Given the description of an element on the screen output the (x, y) to click on. 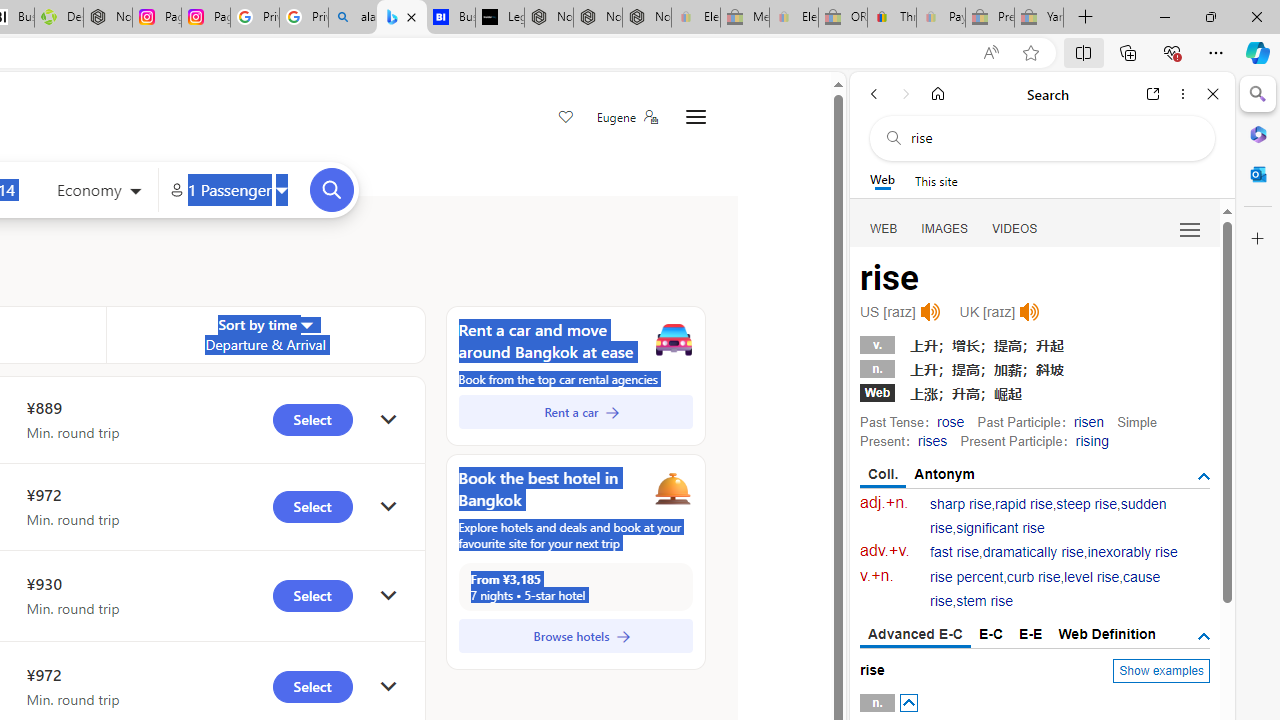
fast rise (955, 552)
AutomationID: tgsb (1203, 476)
inexorably rise (1131, 552)
sharp rise (961, 503)
alabama high school quarterback dies - Search (353, 17)
Search the web (1051, 137)
Coll. (883, 475)
E-E (1030, 633)
Forward (906, 93)
